Given the description of an element on the screen output the (x, y) to click on. 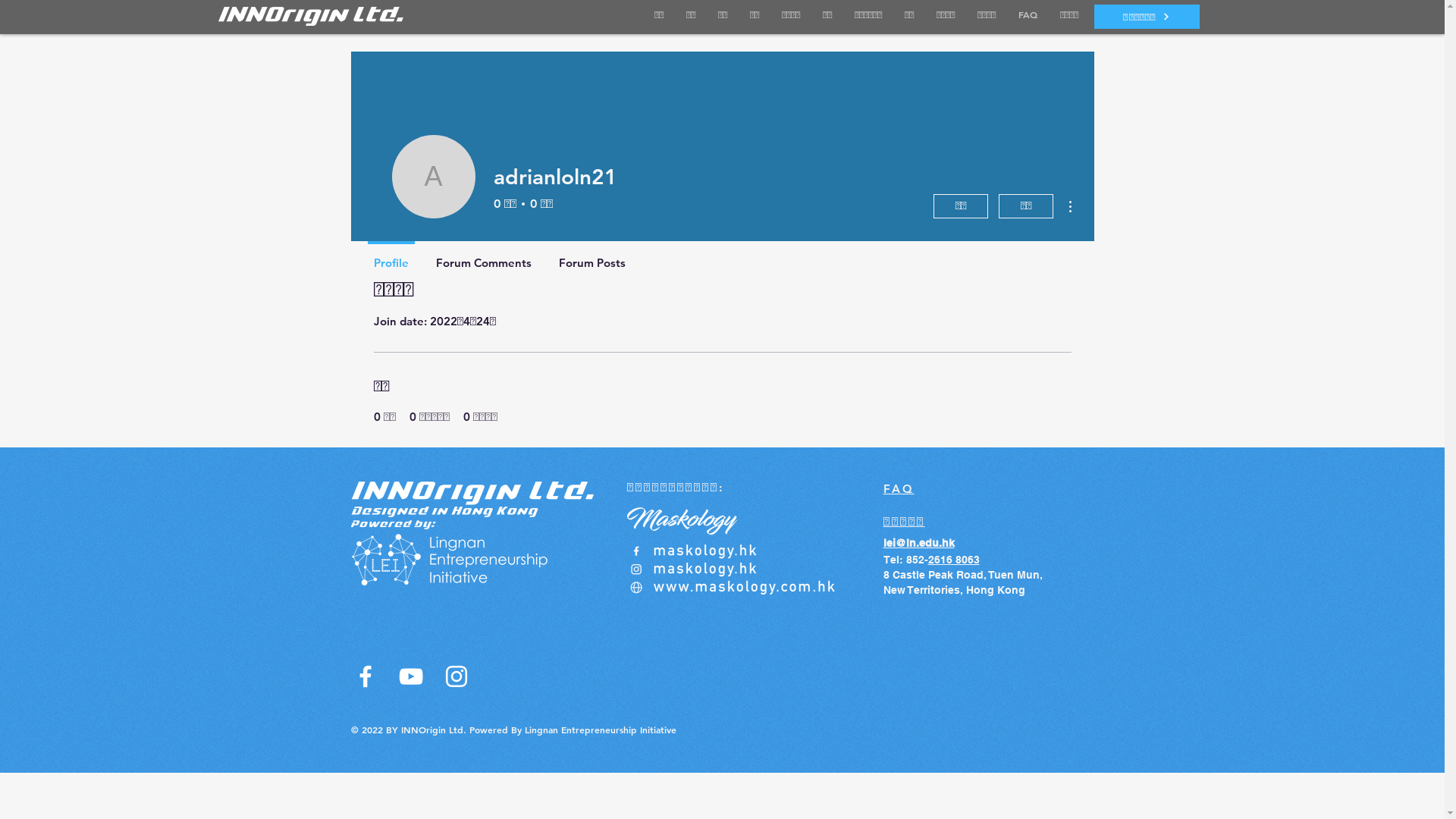
FAQ Element type: text (1027, 14)
Profile Element type: text (390, 256)
Forum Comments Element type: text (482, 256)
2616 8063 Element type: text (953, 559)
lei@ln.edu.hk Element type: text (917, 542)
FAQ Element type: text (897, 488)
Forum Posts Element type: text (591, 256)
